Given the description of an element on the screen output the (x, y) to click on. 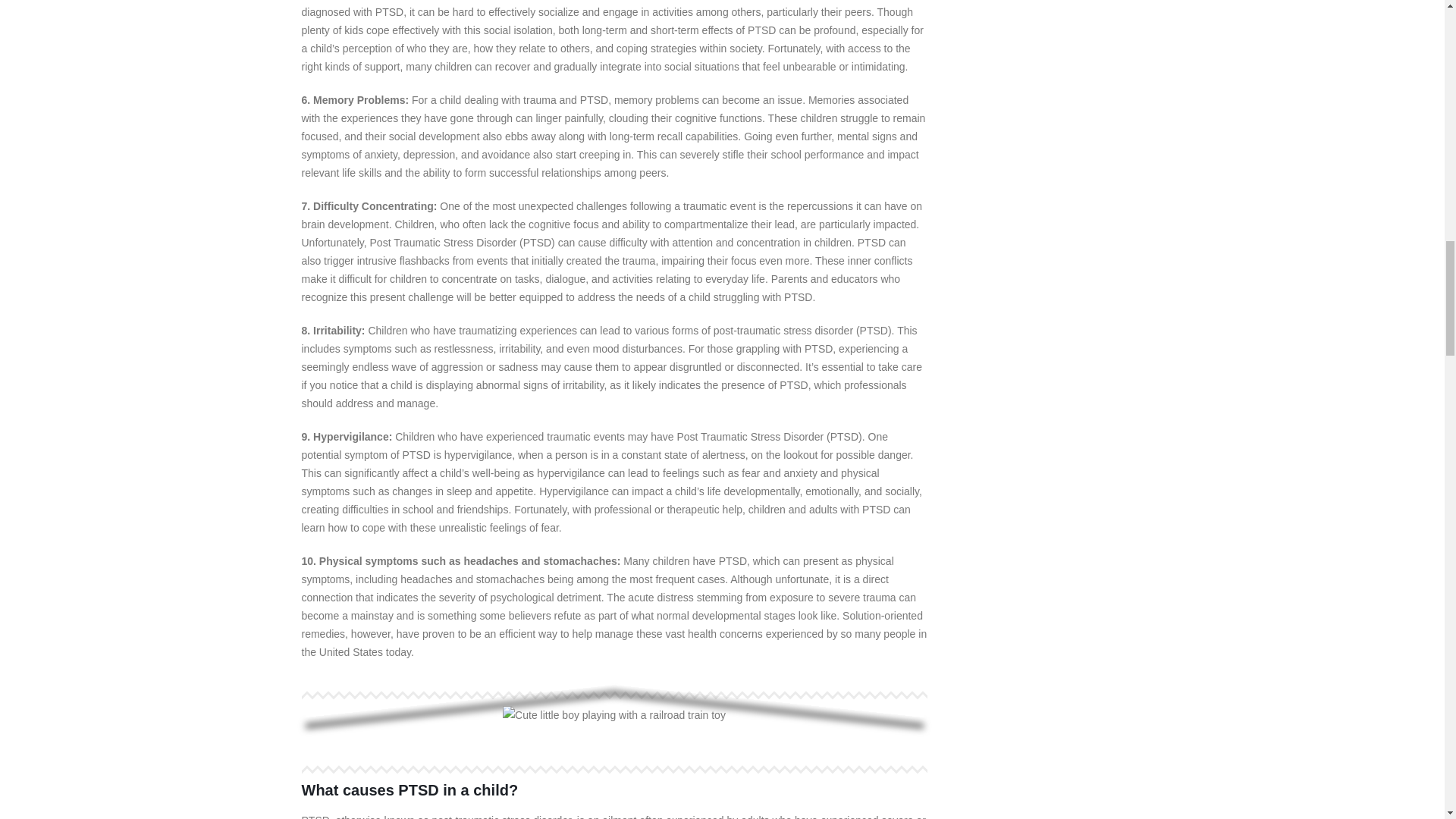
Cute little boy playing with a railroad train toy (613, 714)
